Given the description of an element on the screen output the (x, y) to click on. 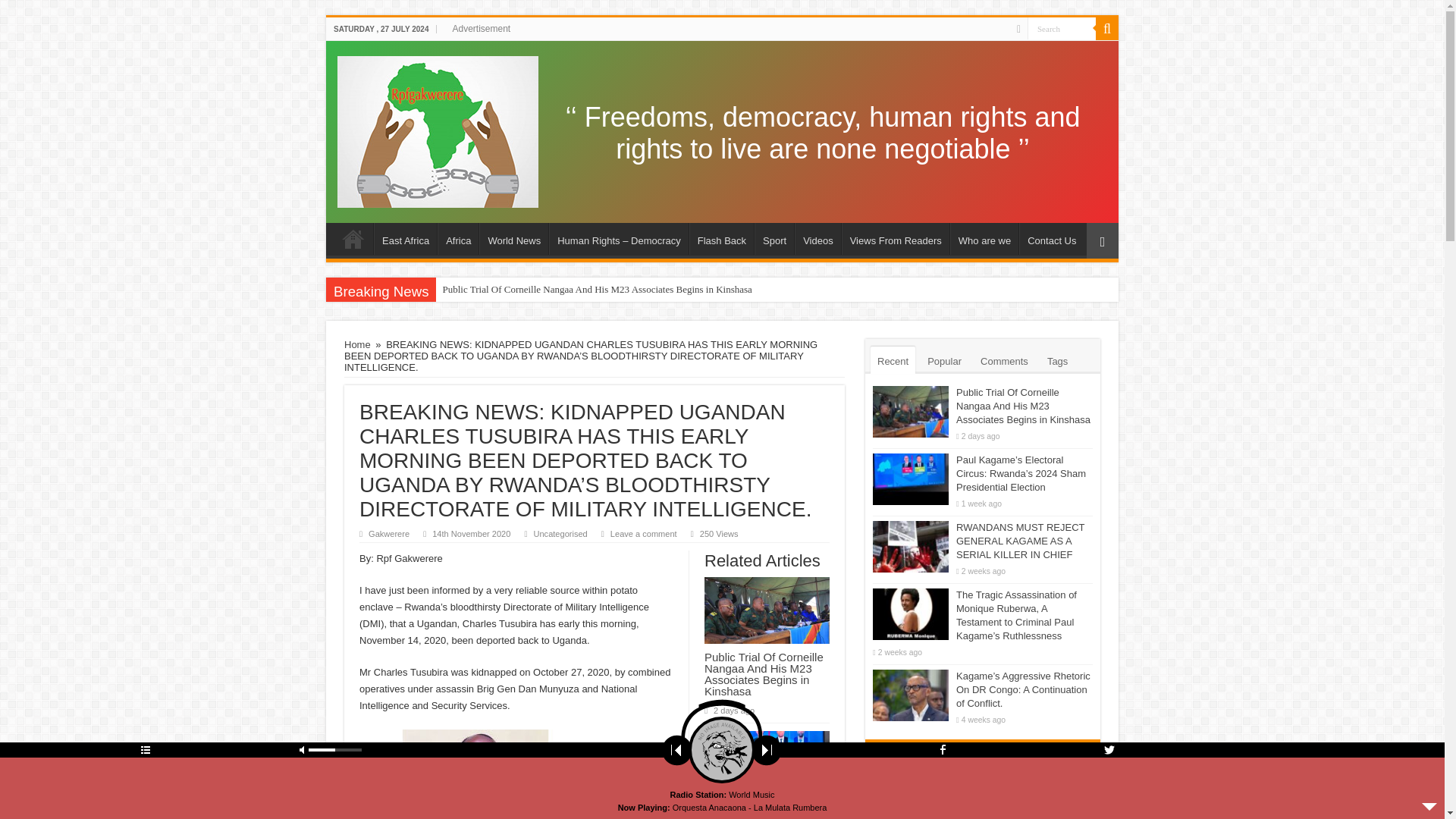
Search (1061, 28)
Who are we (983, 238)
Views From Readers (895, 238)
Search (1061, 28)
East Africa (405, 238)
Home (352, 238)
Africa (458, 238)
World News (513, 238)
Contact Us (1051, 238)
Search (1107, 28)
Videos (817, 238)
Search (1061, 28)
Flash Back (721, 238)
Sport (773, 238)
